Given the description of an element on the screen output the (x, y) to click on. 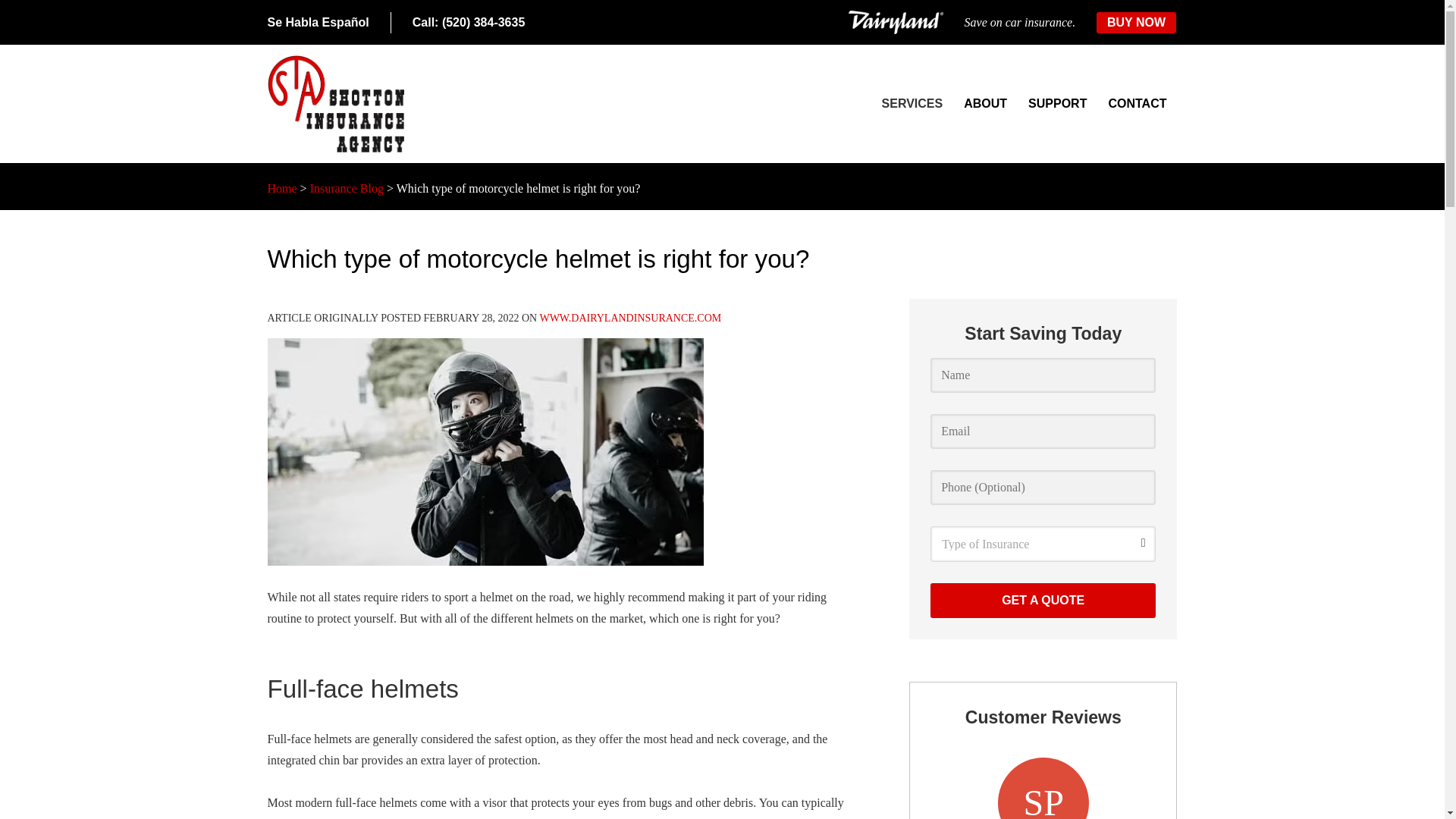
BUY NOW (1136, 22)
CONTACT (1136, 103)
SERVICES (911, 103)
Insurance Blog (347, 187)
Dairyland Logo white (895, 22)
SUPPORT (1057, 103)
Home (281, 187)
Get A Quote (1043, 600)
ABOUT (985, 103)
